Given the description of an element on the screen output the (x, y) to click on. 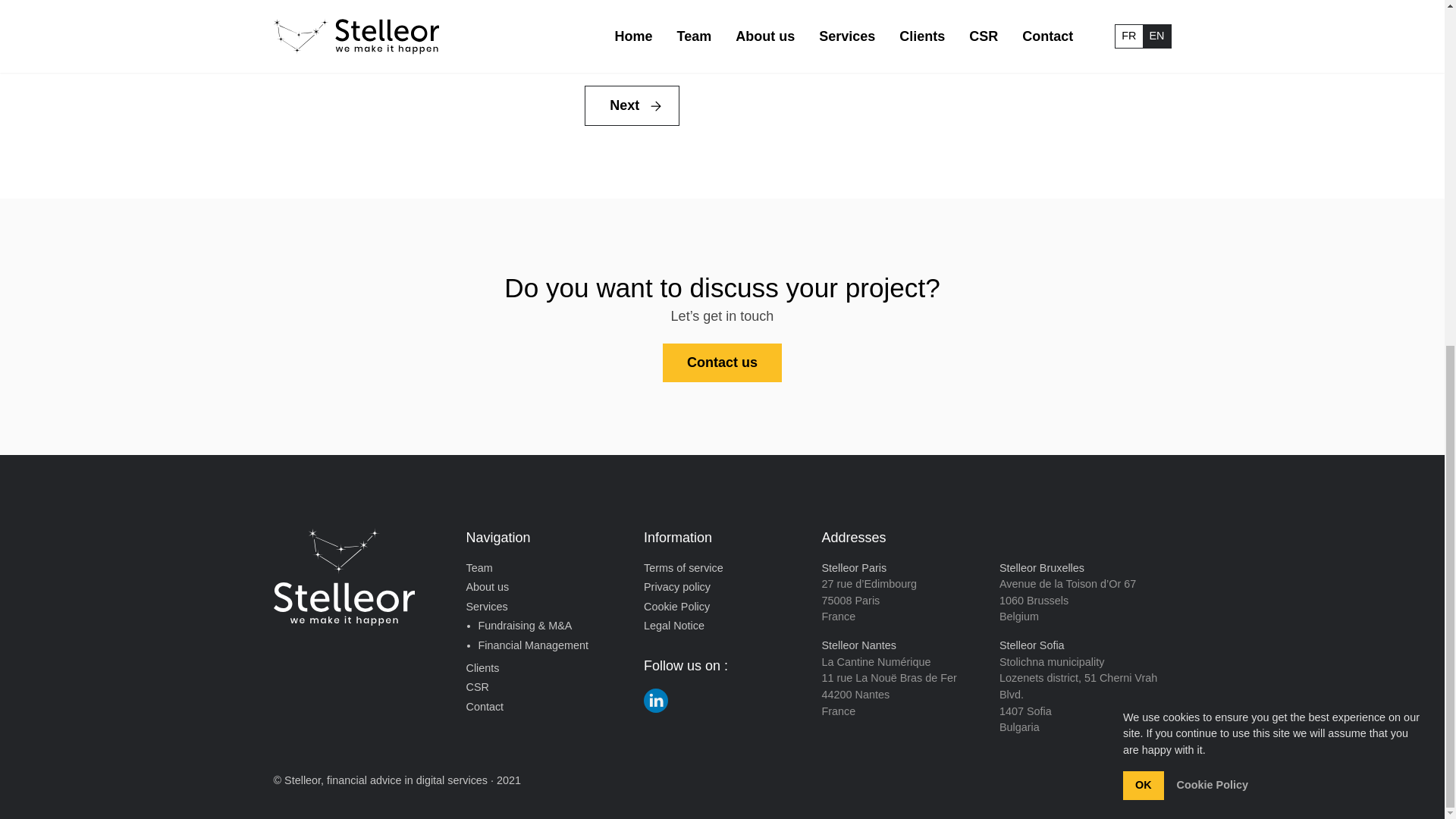
Next (632, 105)
About us (486, 587)
Terms of service (683, 568)
OK (1142, 192)
Contact us (721, 362)
CSR (476, 687)
Cookie Policy (676, 606)
Contact (484, 707)
Legal Notice (673, 626)
Team (478, 568)
